Given the description of an element on the screen output the (x, y) to click on. 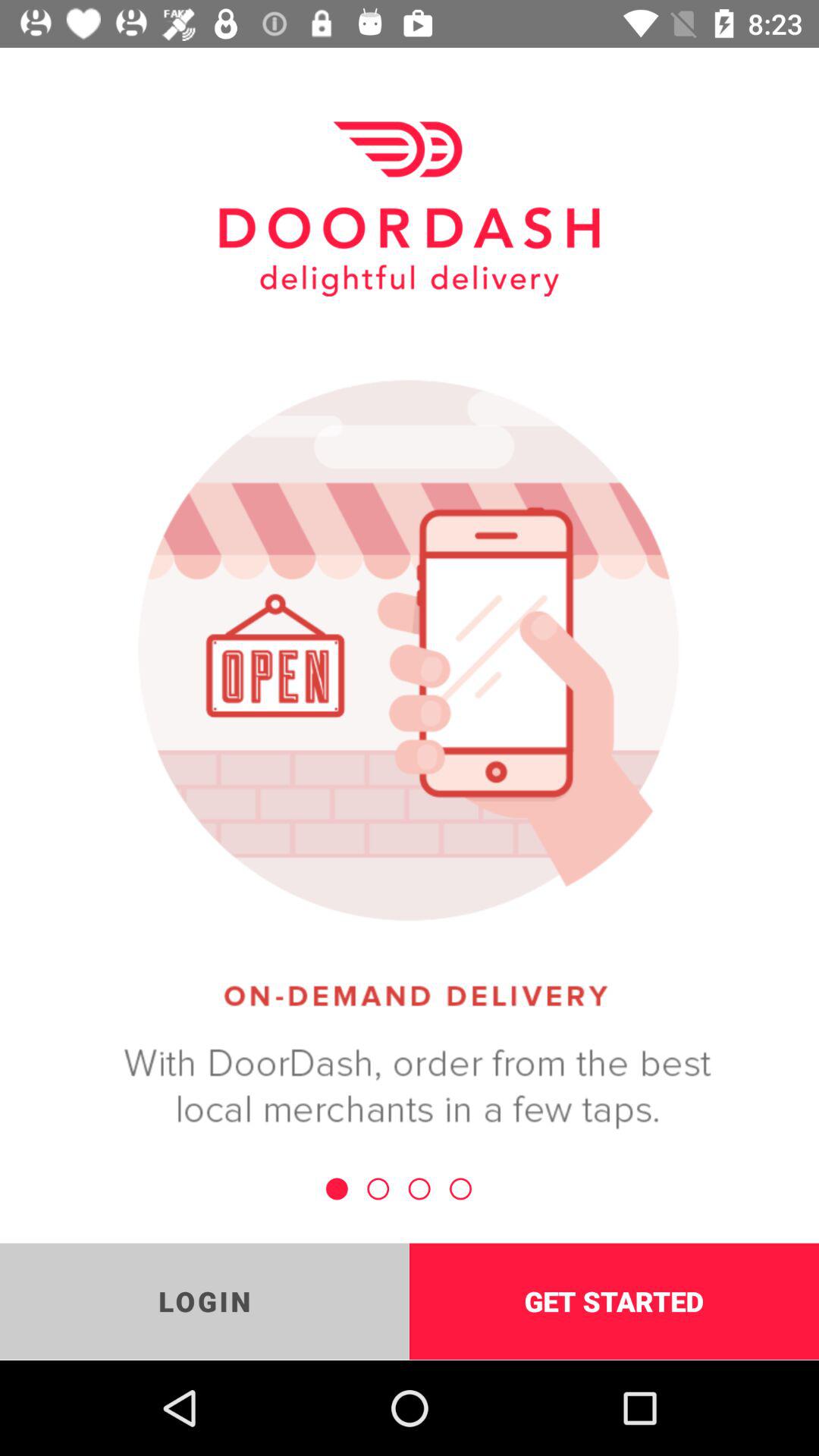
jump to login item (204, 1301)
